Given the description of an element on the screen output the (x, y) to click on. 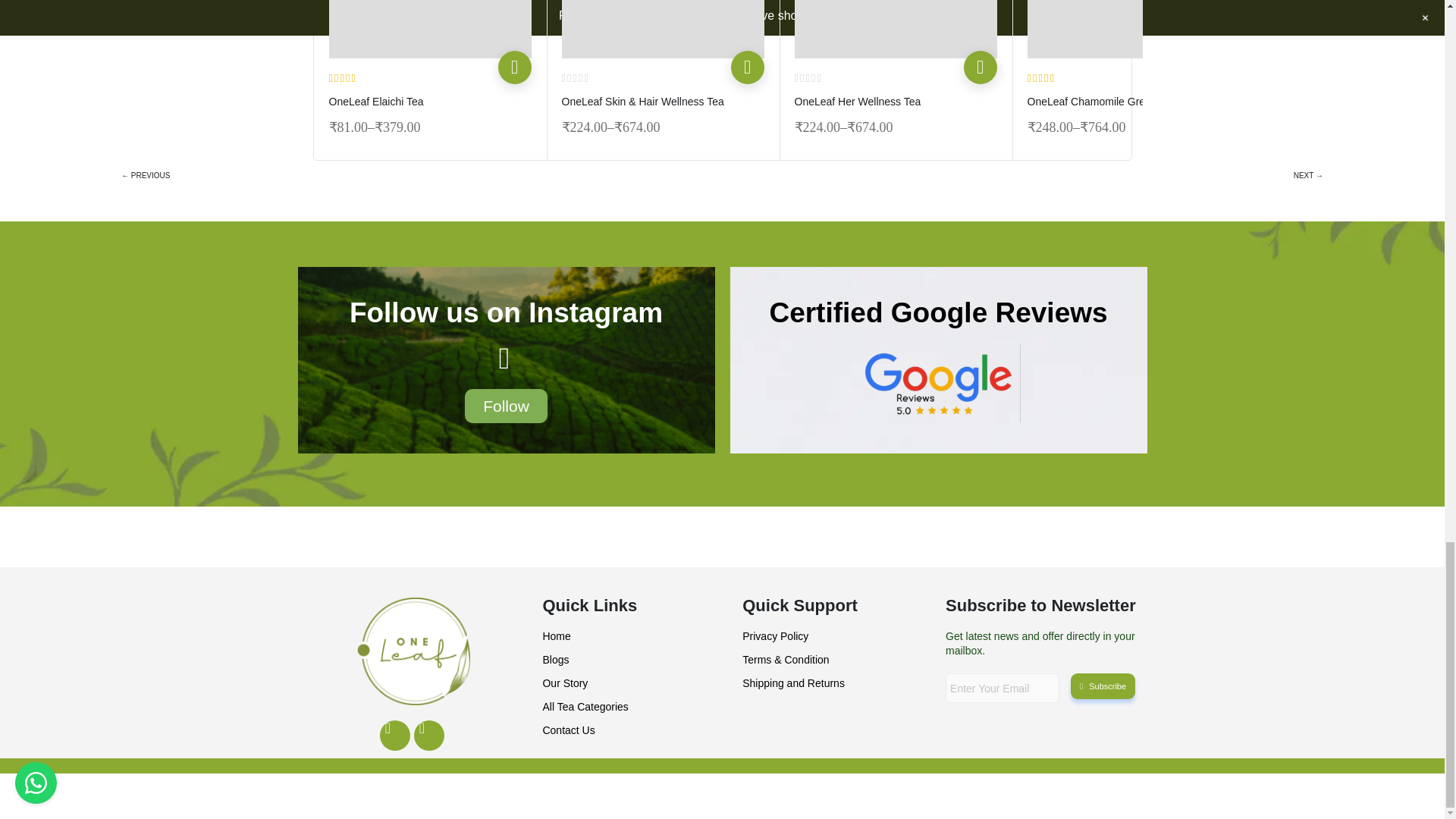
OneLeaf Elaichi Tea (430, 29)
OneLeaf Her Wellness Tea (895, 29)
OneLeaf Chamomile Green Tea (1127, 29)
